Given the description of an element on the screen output the (x, y) to click on. 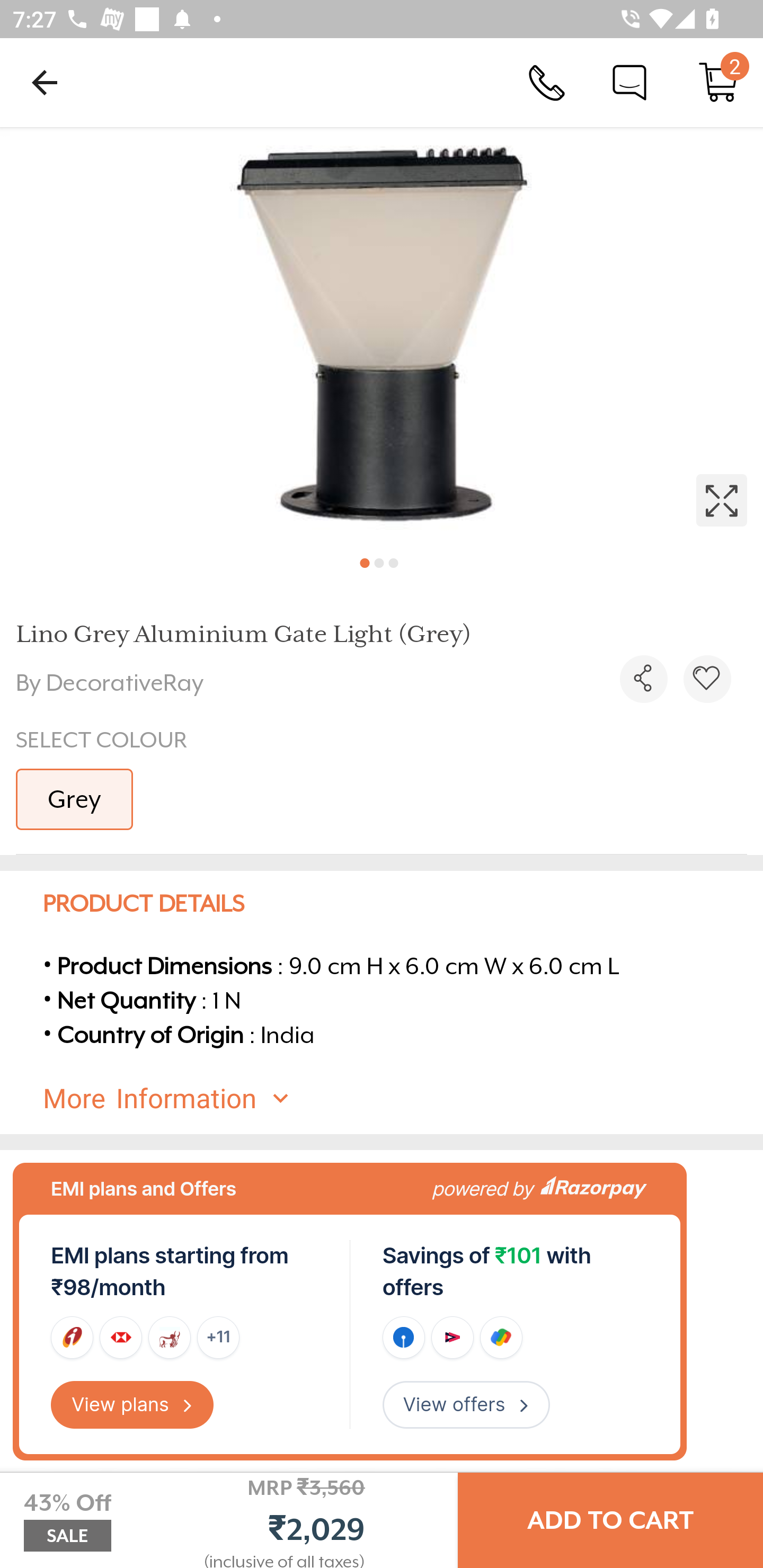
Navigate up (44, 82)
Call Us (546, 81)
Chat (629, 81)
Cart (718, 81)
 (381, 334)
 (643, 678)
 (706, 678)
Grey (74, 798)
More Information  (396, 1098)
View plans (132, 1404)
View offers (465, 1404)
ADD TO CART (610, 1520)
